Given the description of an element on the screen output the (x, y) to click on. 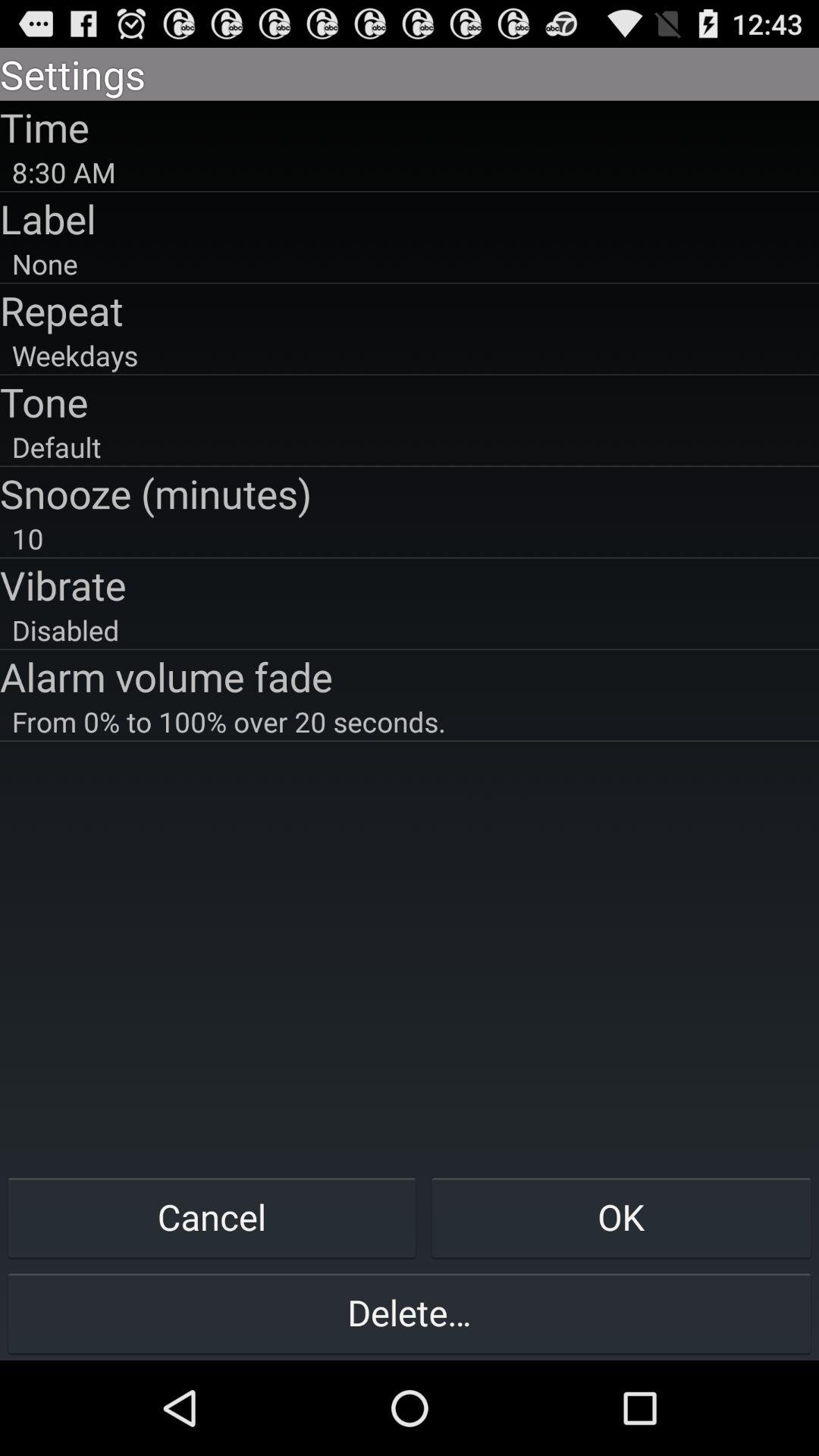
click on the button beside cancel (621, 1217)
